Given the description of an element on the screen output the (x, y) to click on. 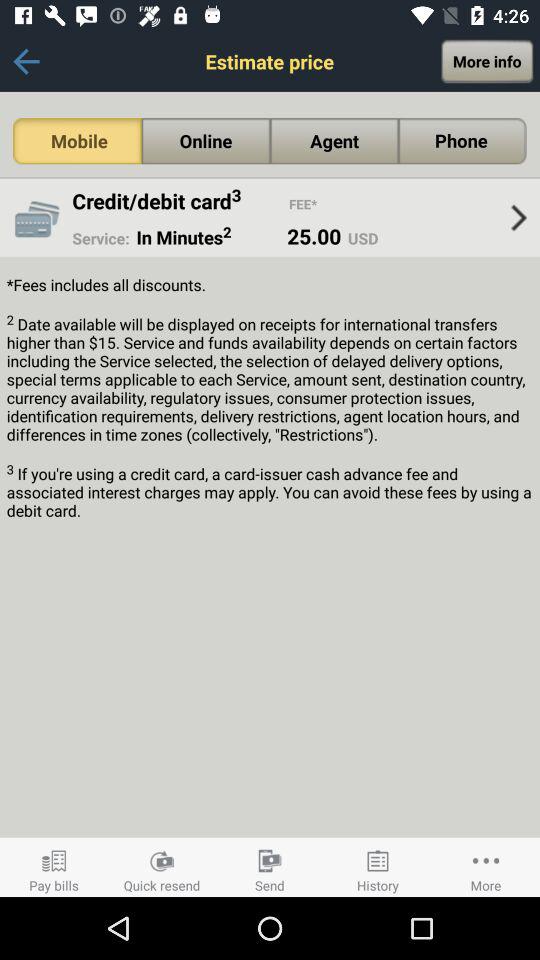
select item above the credit/debit card3 app (77, 141)
